Given the description of an element on the screen output the (x, y) to click on. 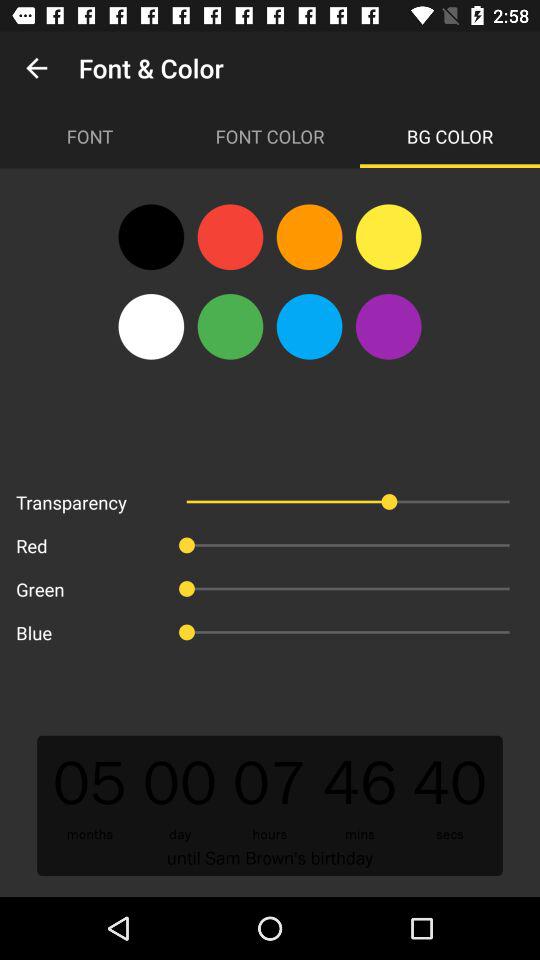
turn on the icon next to font color icon (450, 136)
